Given the description of an element on the screen output the (x, y) to click on. 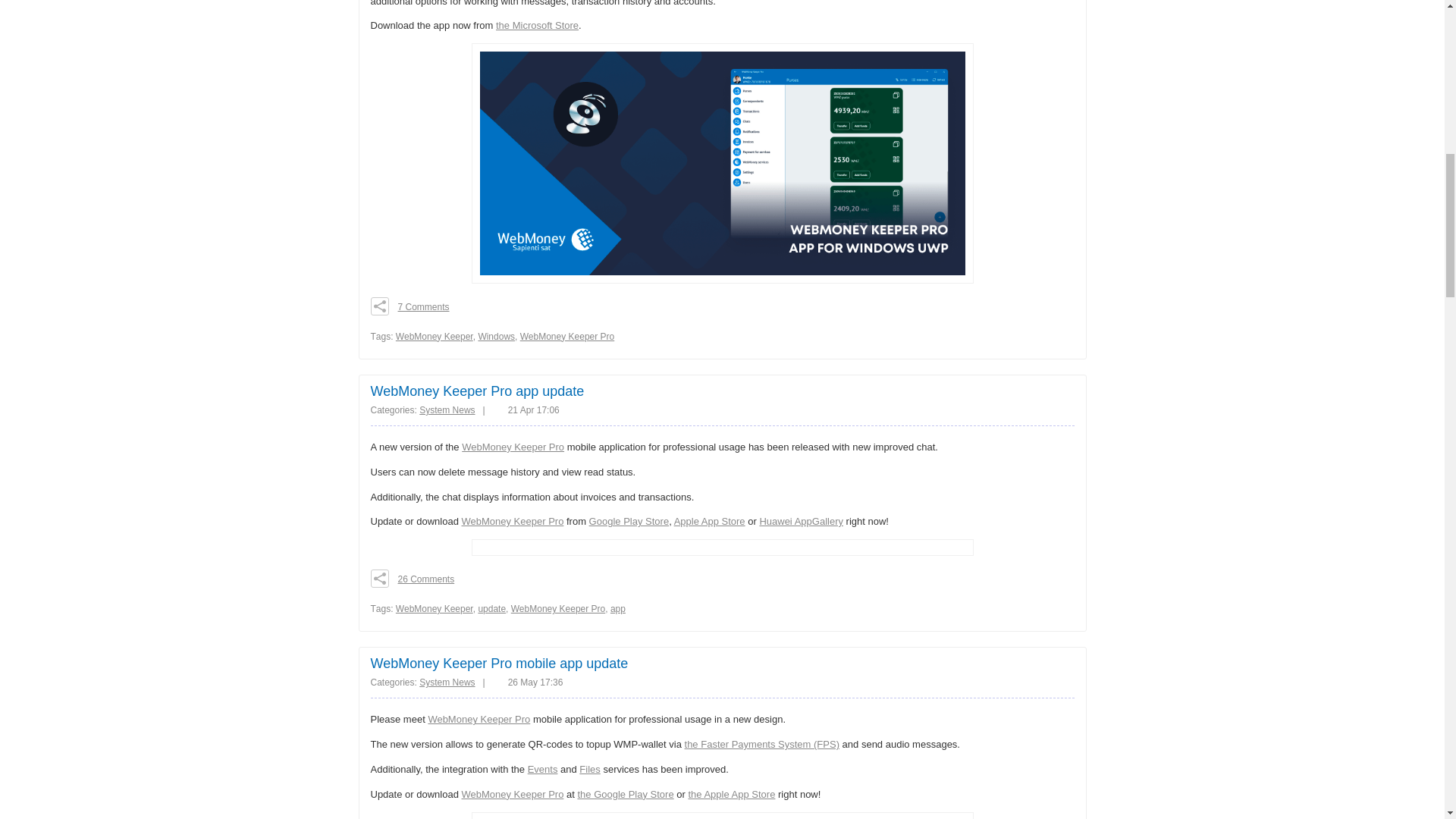
WebMoney Keeper Pro app update (476, 391)
WebMoney Keeper Pro mobile app update (498, 663)
